Given the description of an element on the screen output the (x, y) to click on. 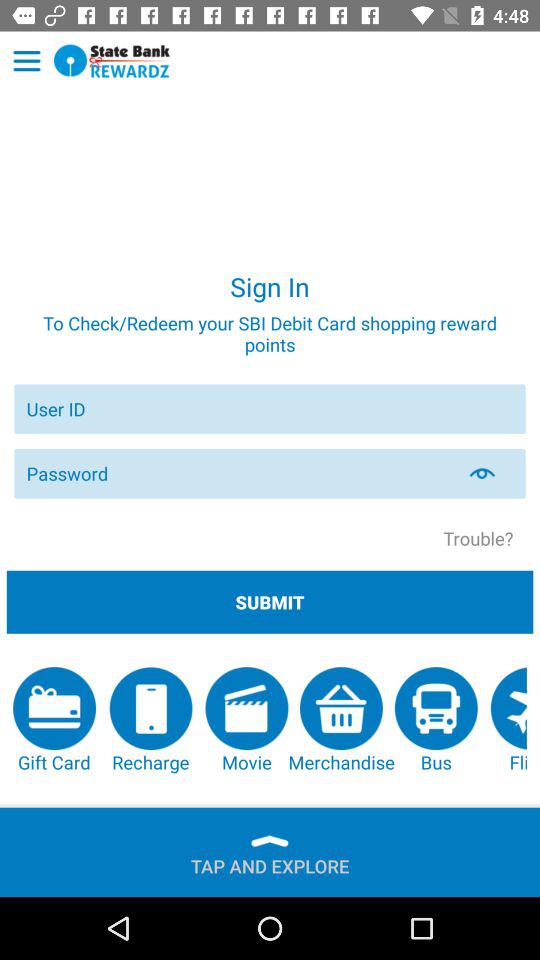
press item next to movie item (150, 720)
